Given the description of an element on the screen output the (x, y) to click on. 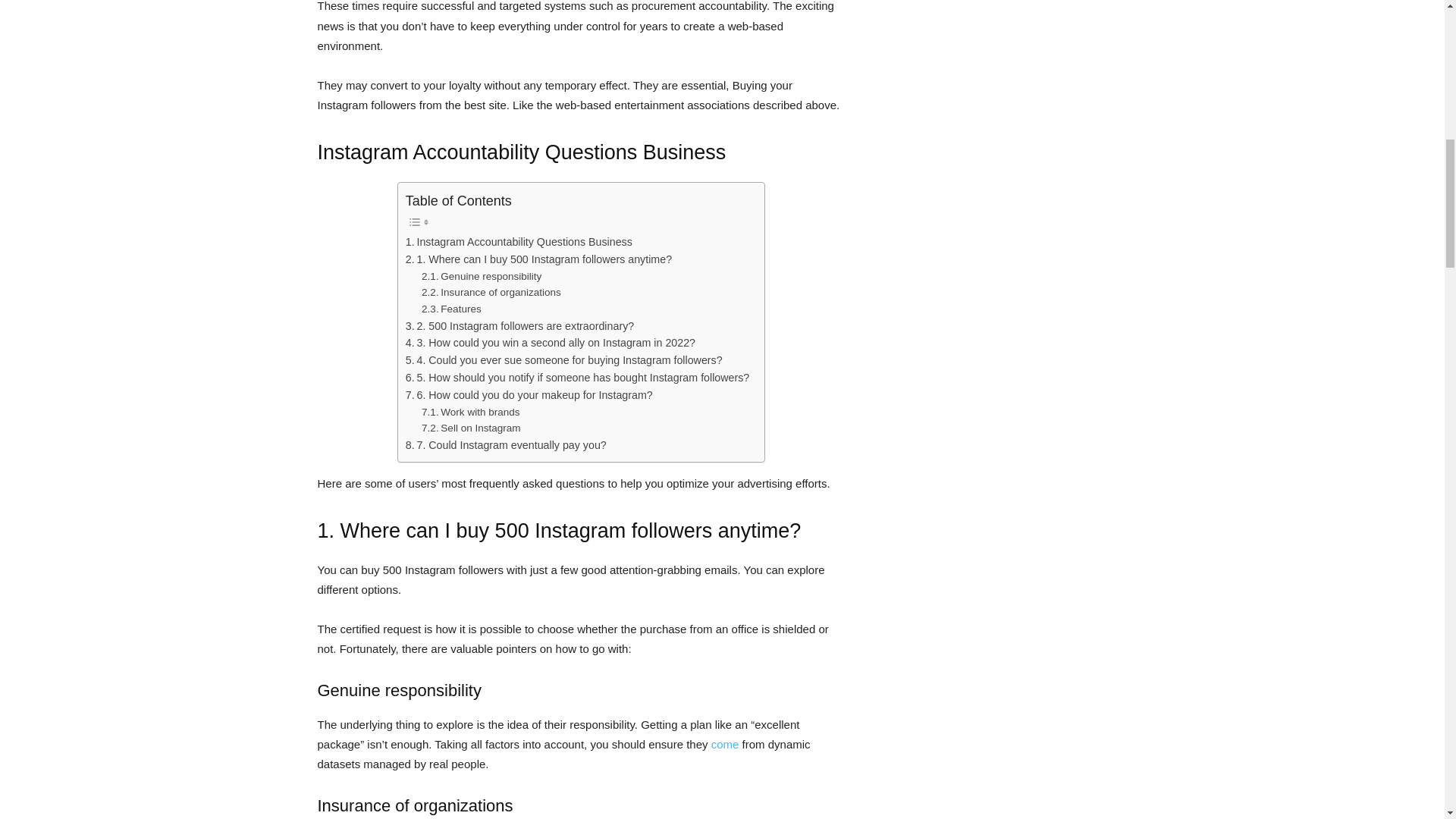
Features (451, 309)
Genuine responsibility (481, 276)
Instagram Accountability Questions Business (518, 241)
Insurance of organizations (491, 292)
2. 500 Instagram followers are extraordinary? (519, 325)
1. Where can I buy 500 Instagram followers anytime? (538, 259)
